Given the description of an element on the screen output the (x, y) to click on. 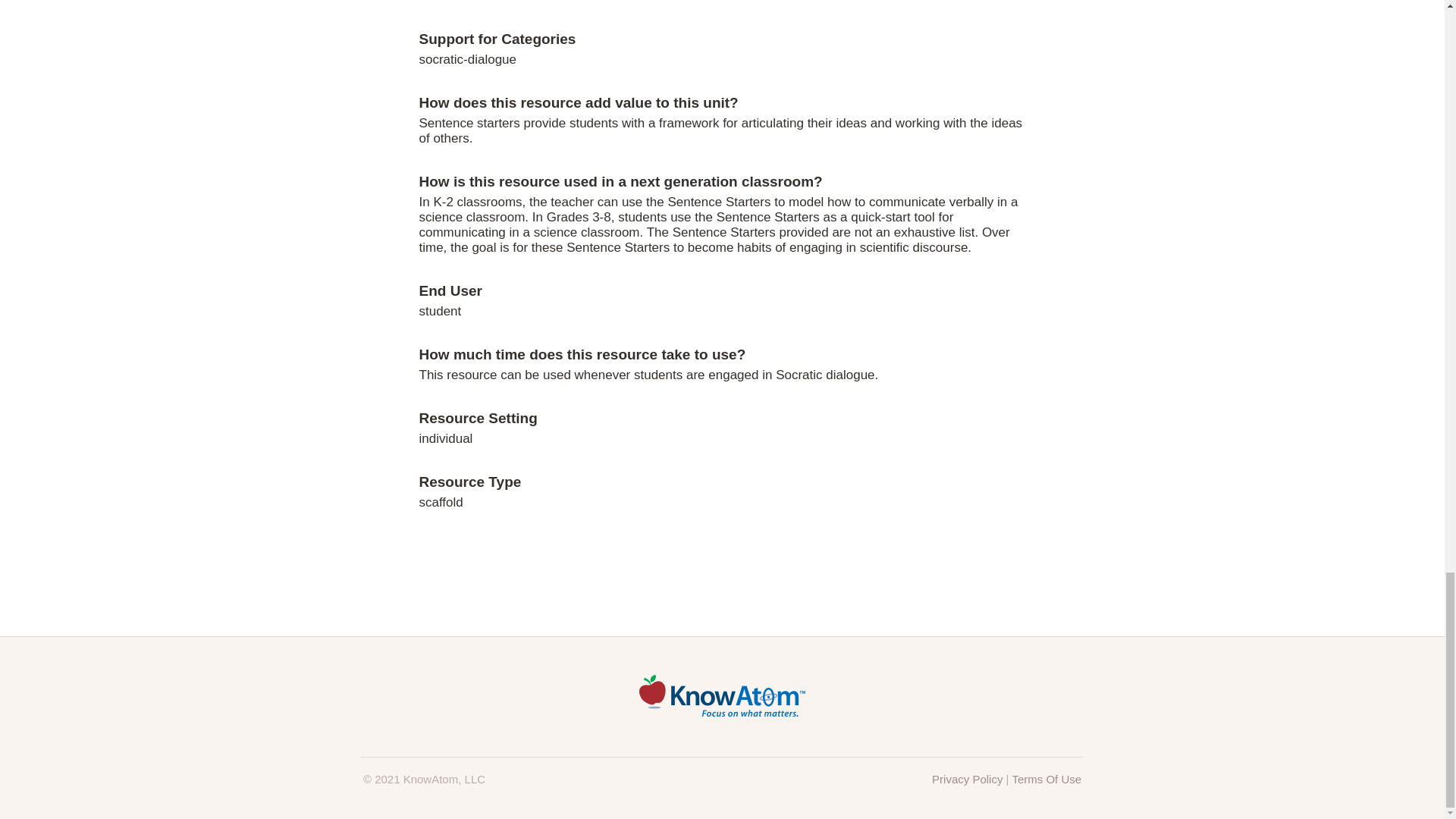
Terms of Use (1046, 779)
Knowatom Focus on what matters (722, 712)
